Given the description of an element on the screen output the (x, y) to click on. 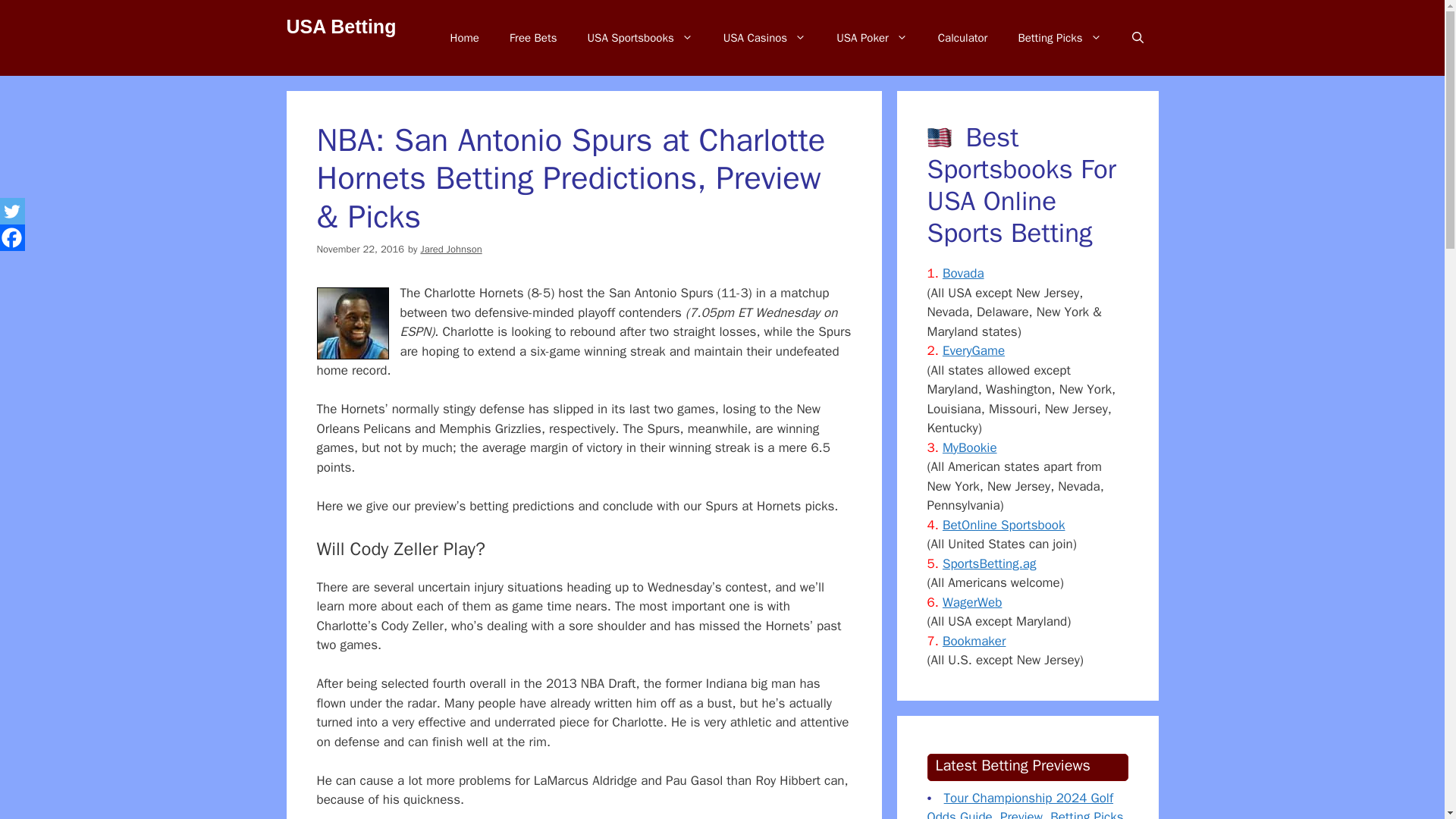
Click for Free Bets (533, 37)
USA Betting (341, 25)
Best USA Casinos (764, 37)
USA Casinos (764, 37)
Home (465, 37)
USA Sportsbook Reviews (639, 37)
Calculator (963, 37)
Free Bets (533, 37)
Betting Picks (1059, 37)
USA Poker (872, 37)
